Given the description of an element on the screen output the (x, y) to click on. 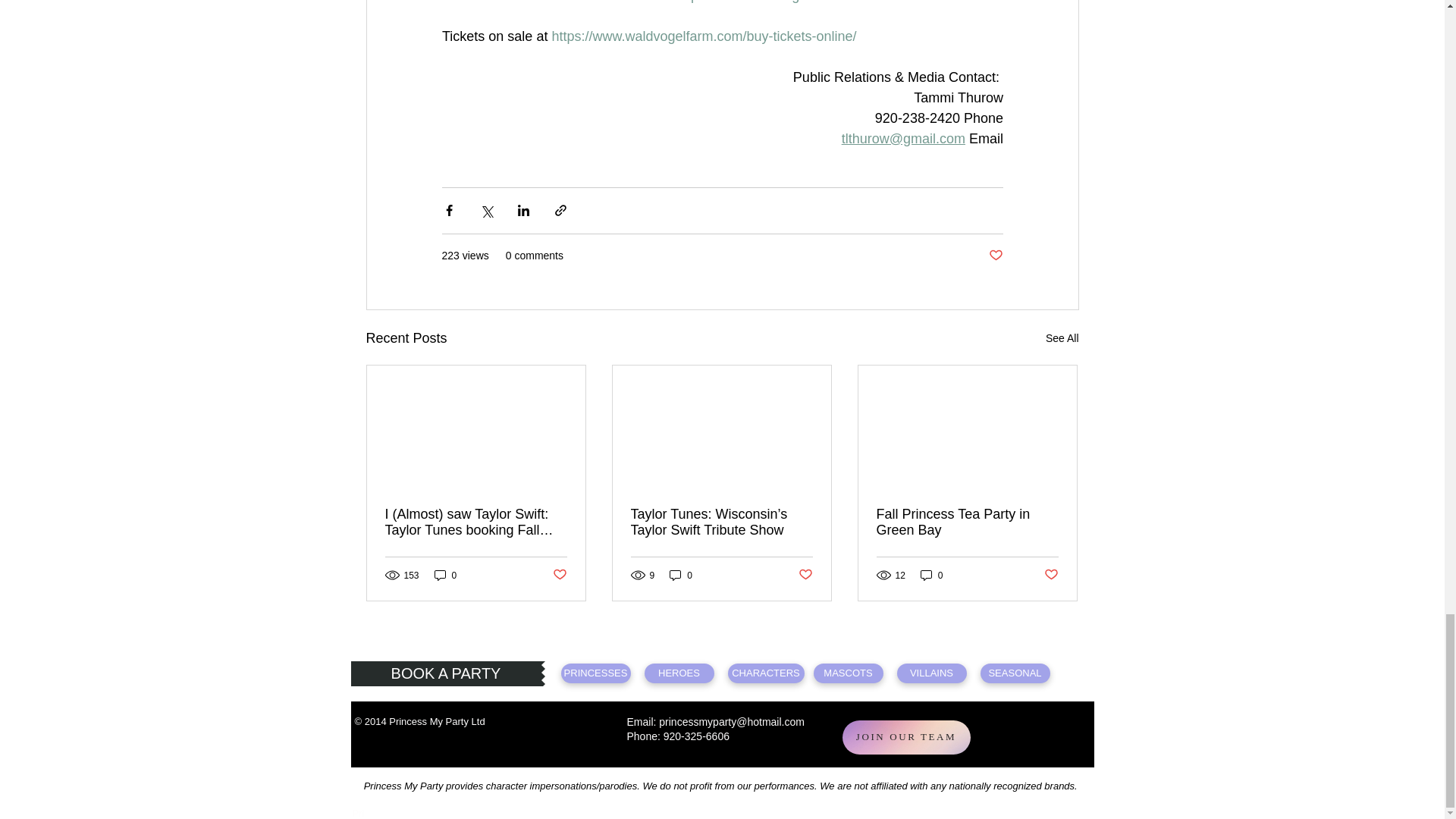
Post not marked as liked (558, 575)
Post not marked as liked (995, 255)
See All (1061, 338)
0 (681, 575)
0 (445, 575)
